Given the description of an element on the screen output the (x, y) to click on. 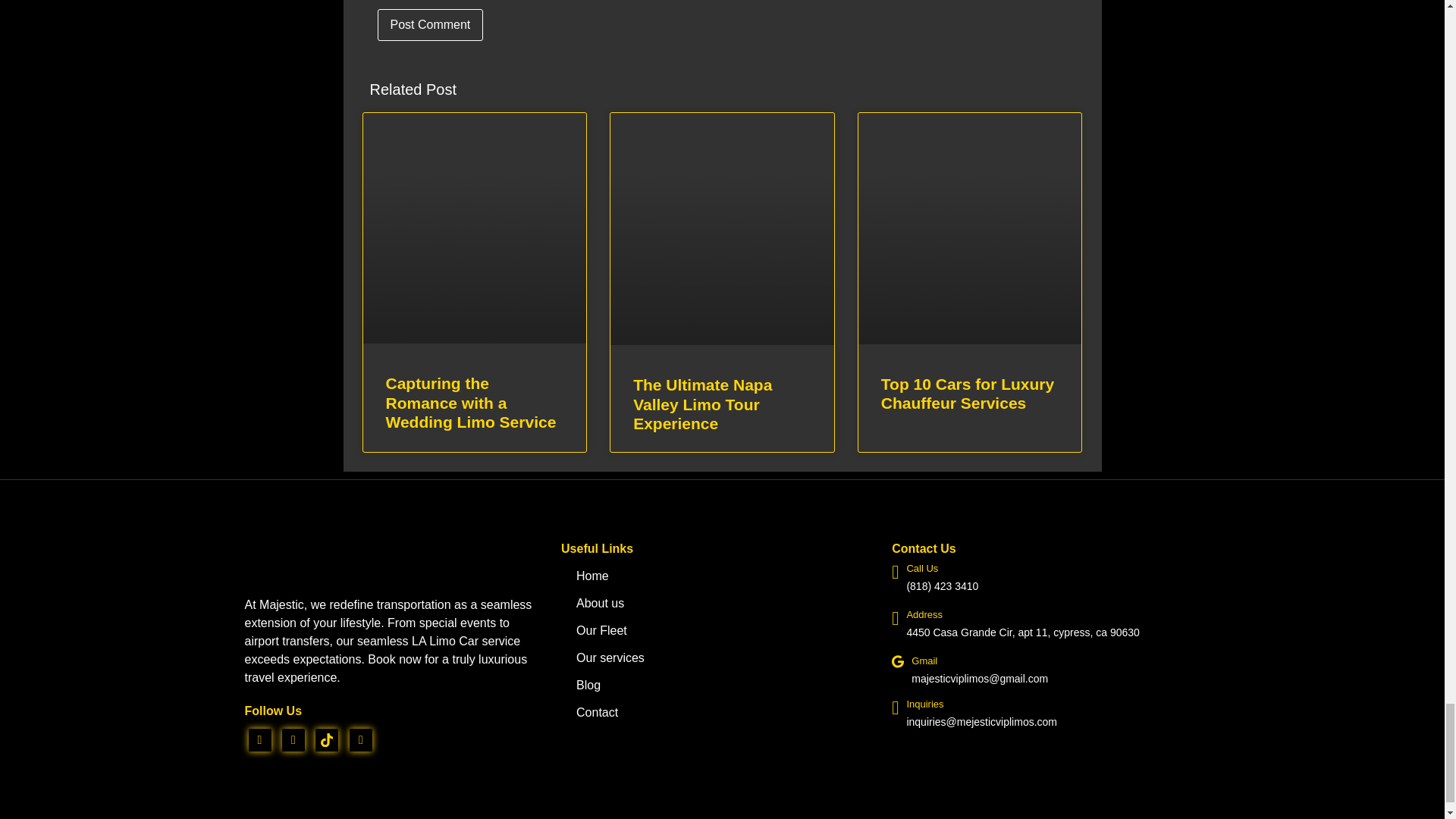
Post Comment (430, 24)
